Given the description of an element on the screen output the (x, y) to click on. 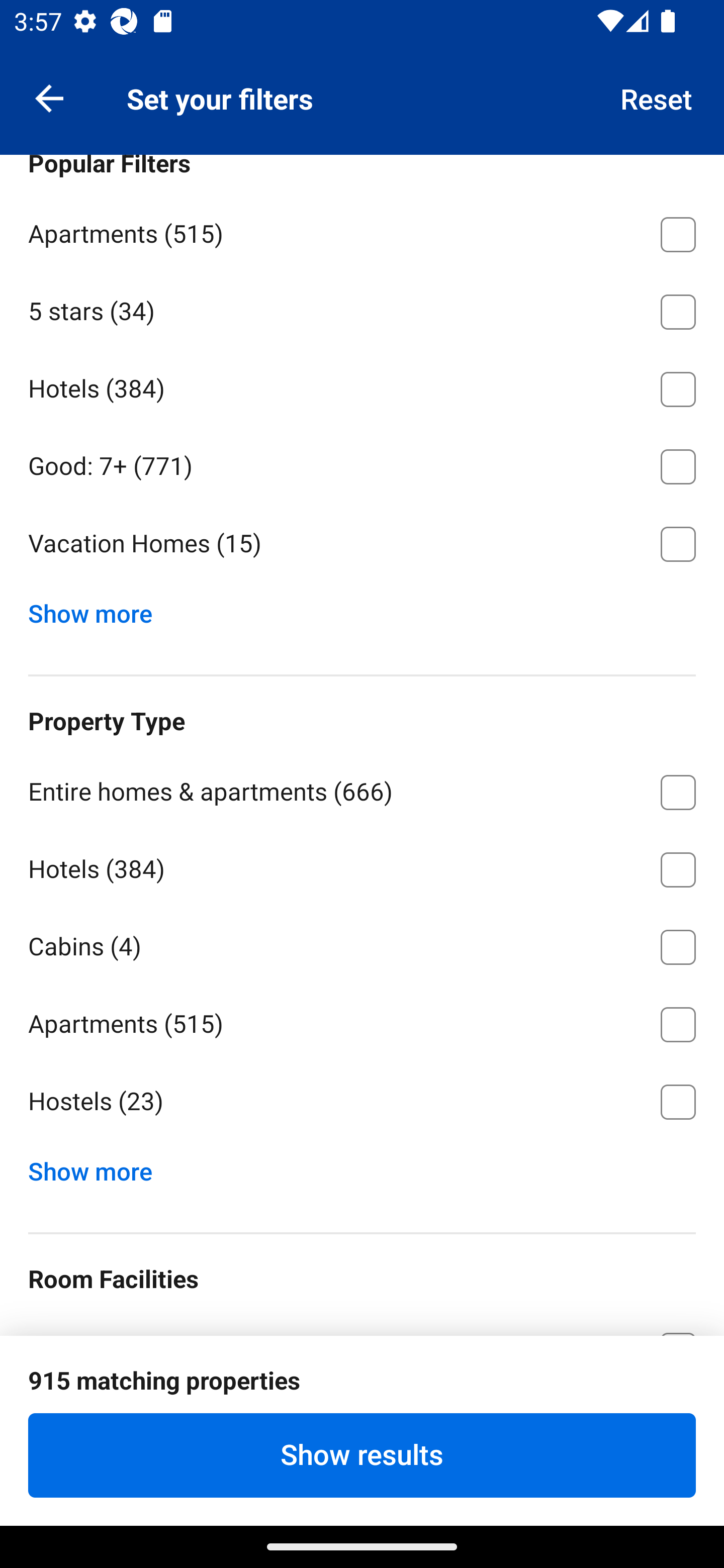
Navigate up (49, 97)
Reset (656, 97)
Apartments ⁦(515) (361, 230)
5 stars ⁦(34) (361, 307)
Hotels ⁦(384) (361, 385)
Good: 7+ ⁦(771) (361, 462)
Vacation Homes ⁦(15) (361, 543)
Show more (97, 609)
Entire homes & apartments ⁦(666) (361, 789)
Hotels ⁦(384) (361, 865)
Cabins ⁦(4) (361, 943)
Apartments ⁦(515) (361, 1021)
Hostels ⁦(23) (361, 1101)
Show more (97, 1167)
Show results (361, 1454)
